Given the description of an element on the screen output the (x, y) to click on. 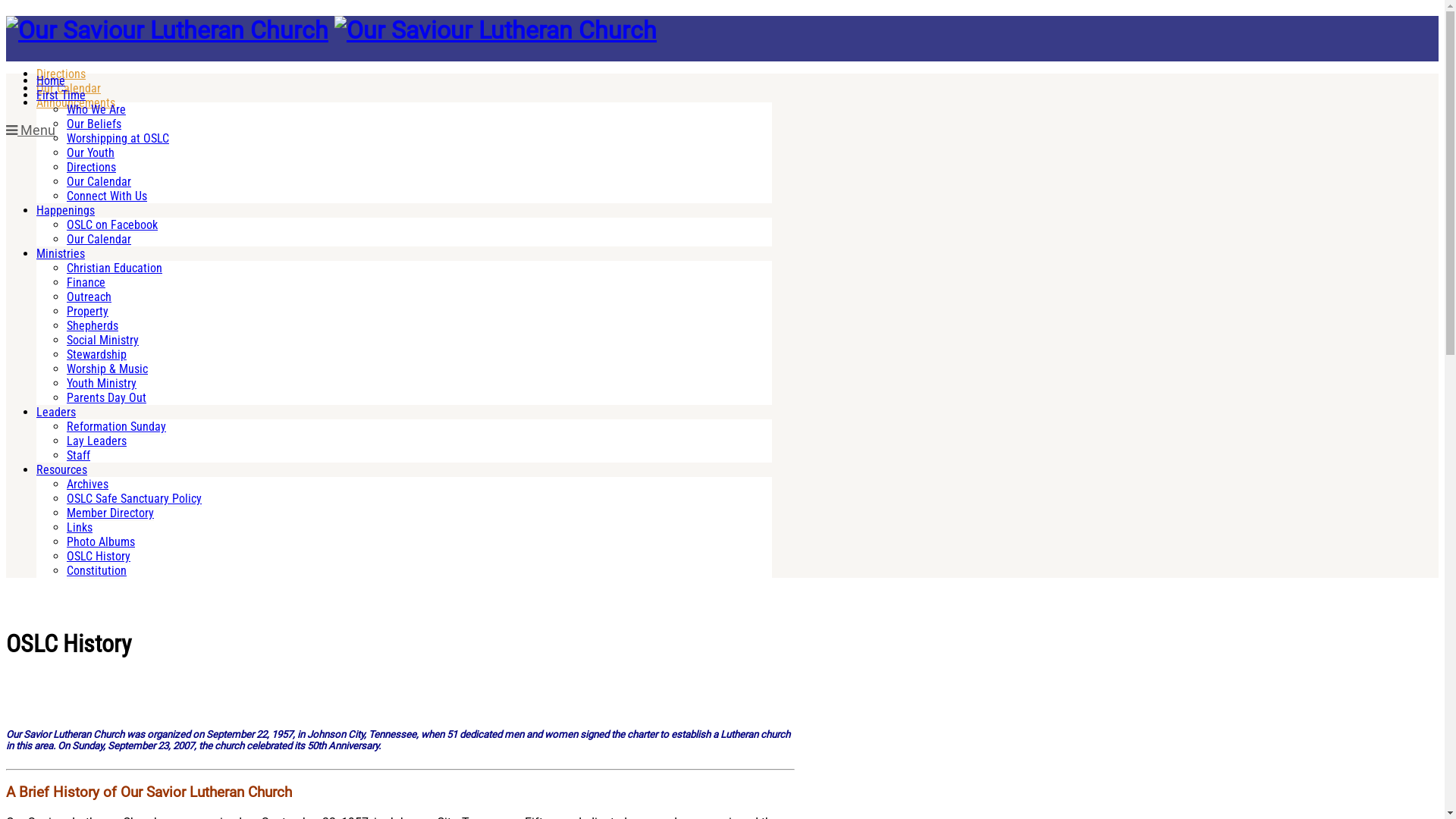
Finance Element type: text (85, 282)
Our Calendar Element type: text (98, 181)
Parents Day Out Element type: text (106, 397)
Social Ministry Element type: text (102, 340)
Worship & Music Element type: text (106, 368)
Our Beliefs Element type: text (93, 123)
Worshipping at OSLC Element type: text (117, 138)
Stewardship Element type: text (96, 354)
Our Calendar Element type: text (98, 239)
OSLC History Element type: text (98, 556)
Announcements Element type: text (75, 102)
Menu Element type: text (30, 130)
Connect With Us Element type: text (106, 195)
First Time Element type: text (60, 94)
Home Element type: text (50, 80)
Lay Leaders Element type: text (96, 440)
Our Saviour Lutheran Church Element type: hover (495, 29)
Archives Element type: text (87, 484)
Links Element type: text (79, 527)
Member Directory Element type: text (109, 512)
Ministries Element type: text (60, 253)
Youth Ministry Element type: text (101, 383)
Staff Element type: text (78, 455)
Reformation Sunday Element type: text (116, 426)
OSLC Safe Sanctuary Policy Element type: text (133, 498)
Constitution Element type: text (96, 570)
Who We Are Element type: text (95, 109)
Photo Albums Element type: text (100, 541)
Shepherds Element type: text (92, 325)
Happenings Element type: text (65, 210)
Directions Element type: text (91, 167)
Leaders Element type: text (55, 411)
OSLC on Facebook Element type: text (111, 224)
Directions Element type: text (60, 73)
Resources Element type: text (61, 469)
Our Youth Element type: text (90, 152)
Property Element type: text (87, 311)
Christian Education Element type: text (114, 268)
Outreach Element type: text (88, 296)
Our Calendar Element type: text (68, 88)
Our Saviour Lutheran Church Element type: hover (167, 29)
